Given the description of an element on the screen output the (x, y) to click on. 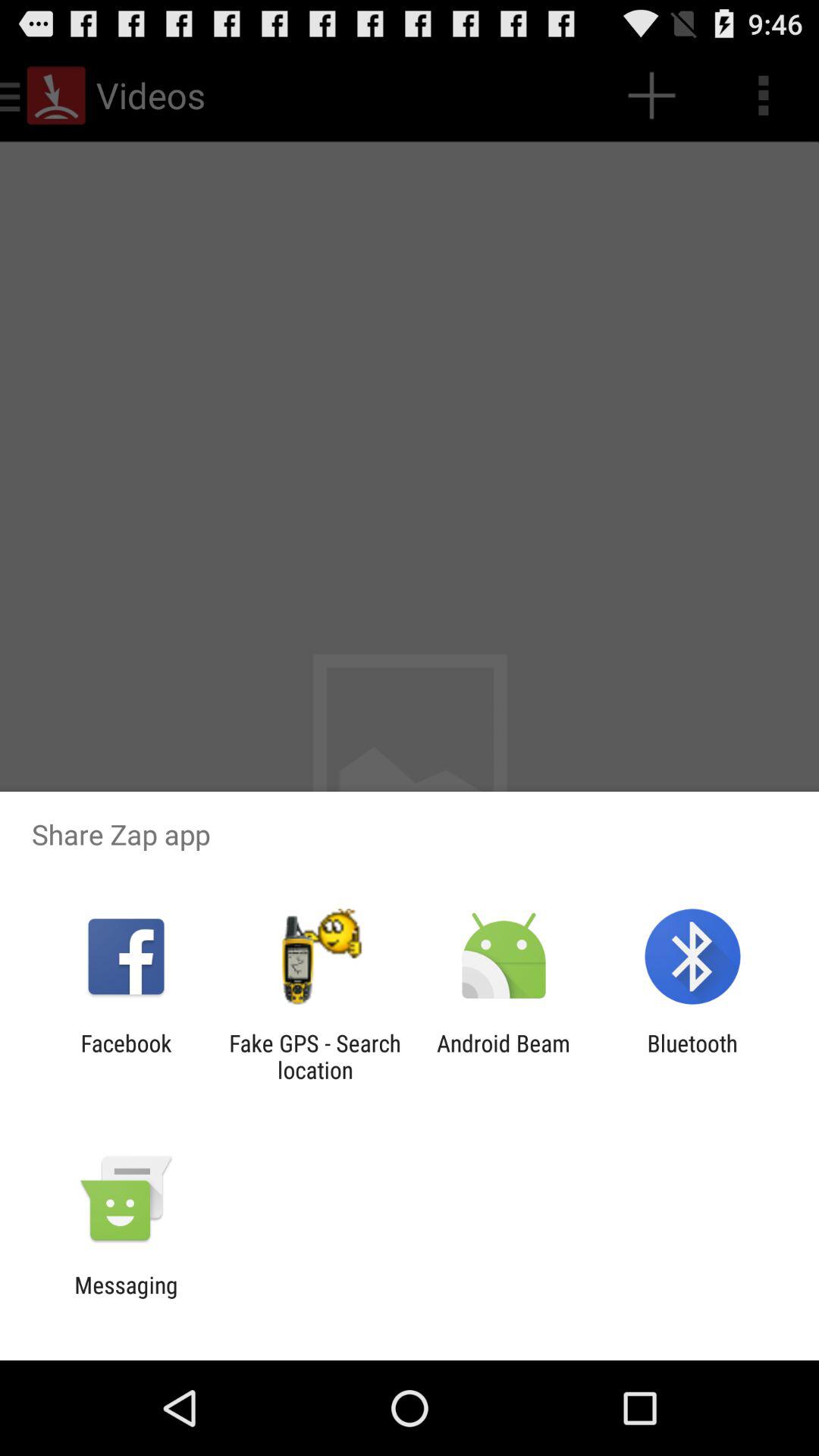
jump to fake gps search icon (314, 1056)
